Given the description of an element on the screen output the (x, y) to click on. 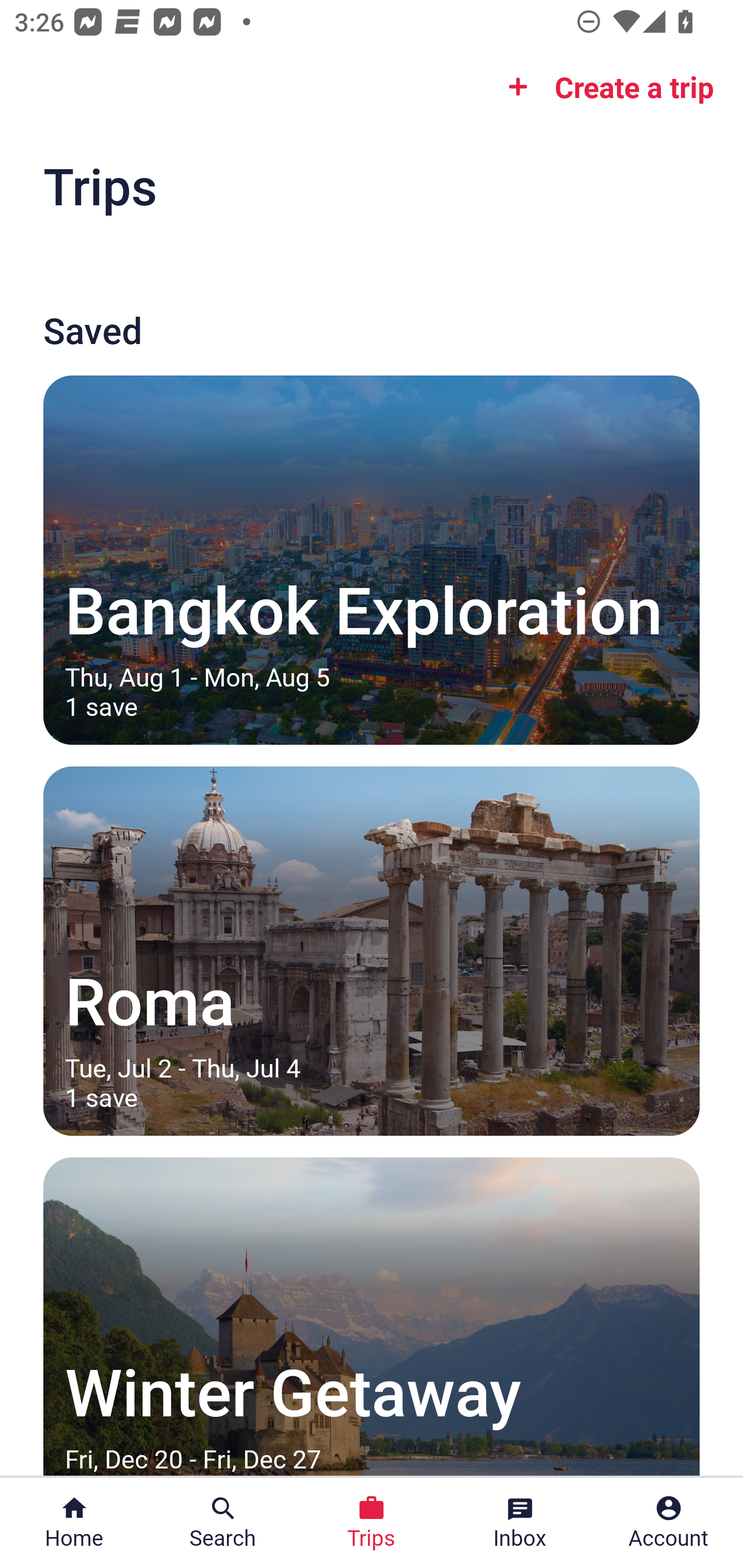
Create a trip Create a trip Button (605, 86)
Home Home Button (74, 1522)
Search Search Button (222, 1522)
Inbox Inbox Button (519, 1522)
Account Profile. Button (668, 1522)
